Given the description of an element on the screen output the (x, y) to click on. 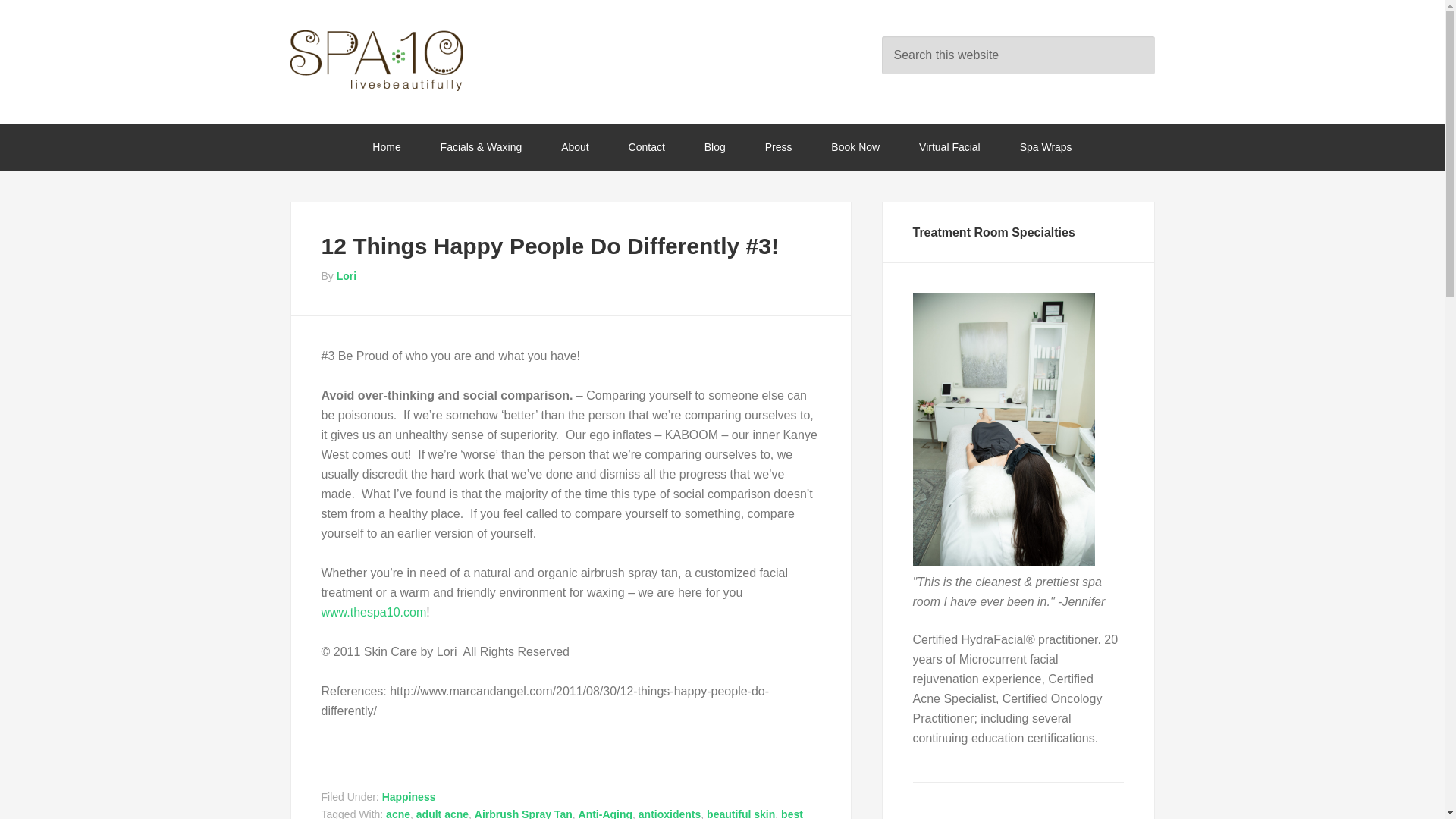
Contact (646, 147)
Press (778, 147)
Book Now (855, 147)
www.thespa10.com (373, 612)
Spa Wraps (1045, 147)
Lori (346, 275)
adult acne (442, 813)
The Spa 10 (410, 60)
Airbrush Spray Tan (523, 813)
